Given the description of an element on the screen output the (x, y) to click on. 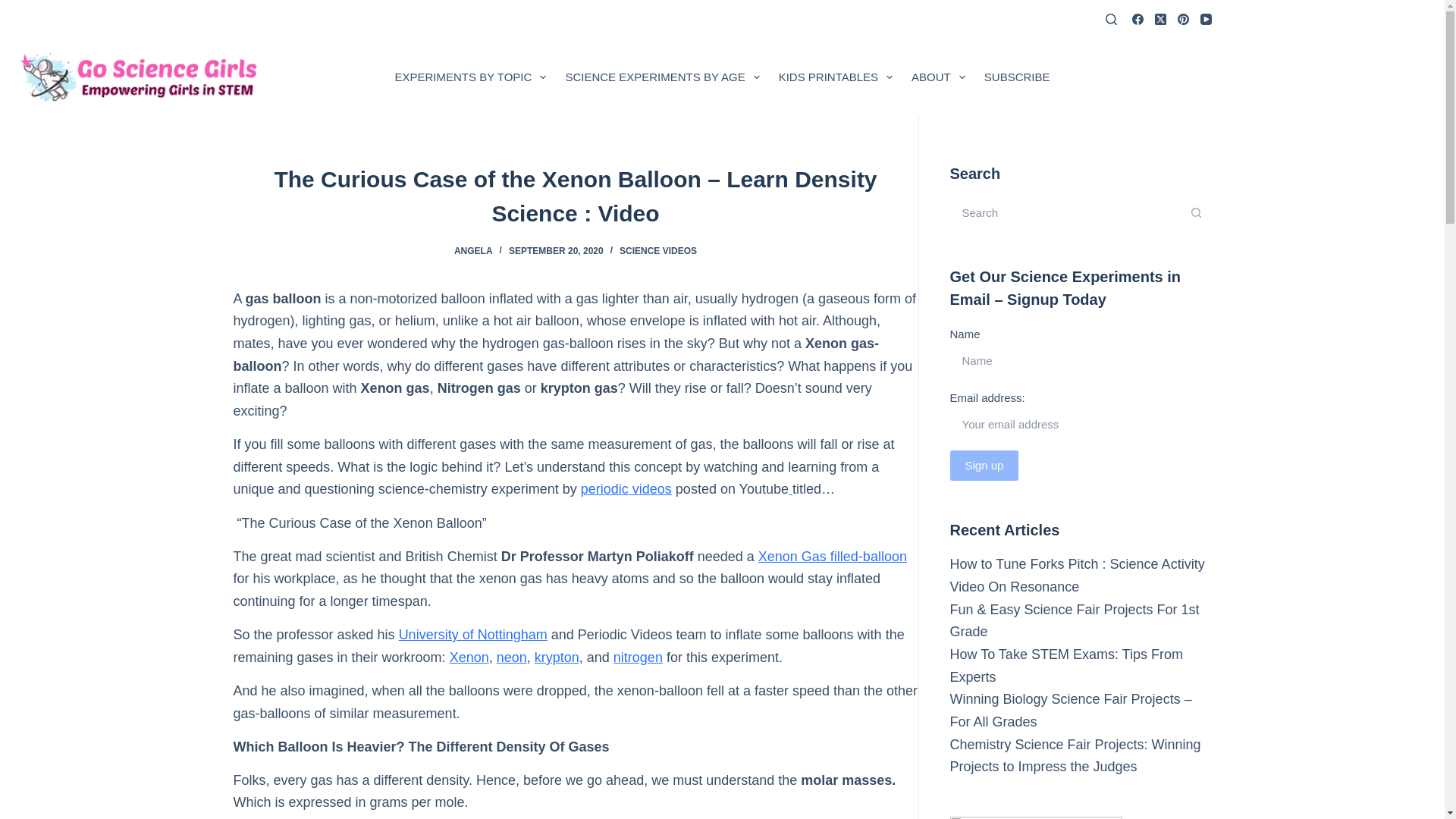
Skip to content (15, 7)
Search for... (1064, 212)
Posts by Angela (473, 250)
EXPERIMENTS BY TOPIC (470, 77)
Sign up (983, 465)
SCIENCE EXPERIMENTS BY AGE (662, 77)
